Given the description of an element on the screen output the (x, y) to click on. 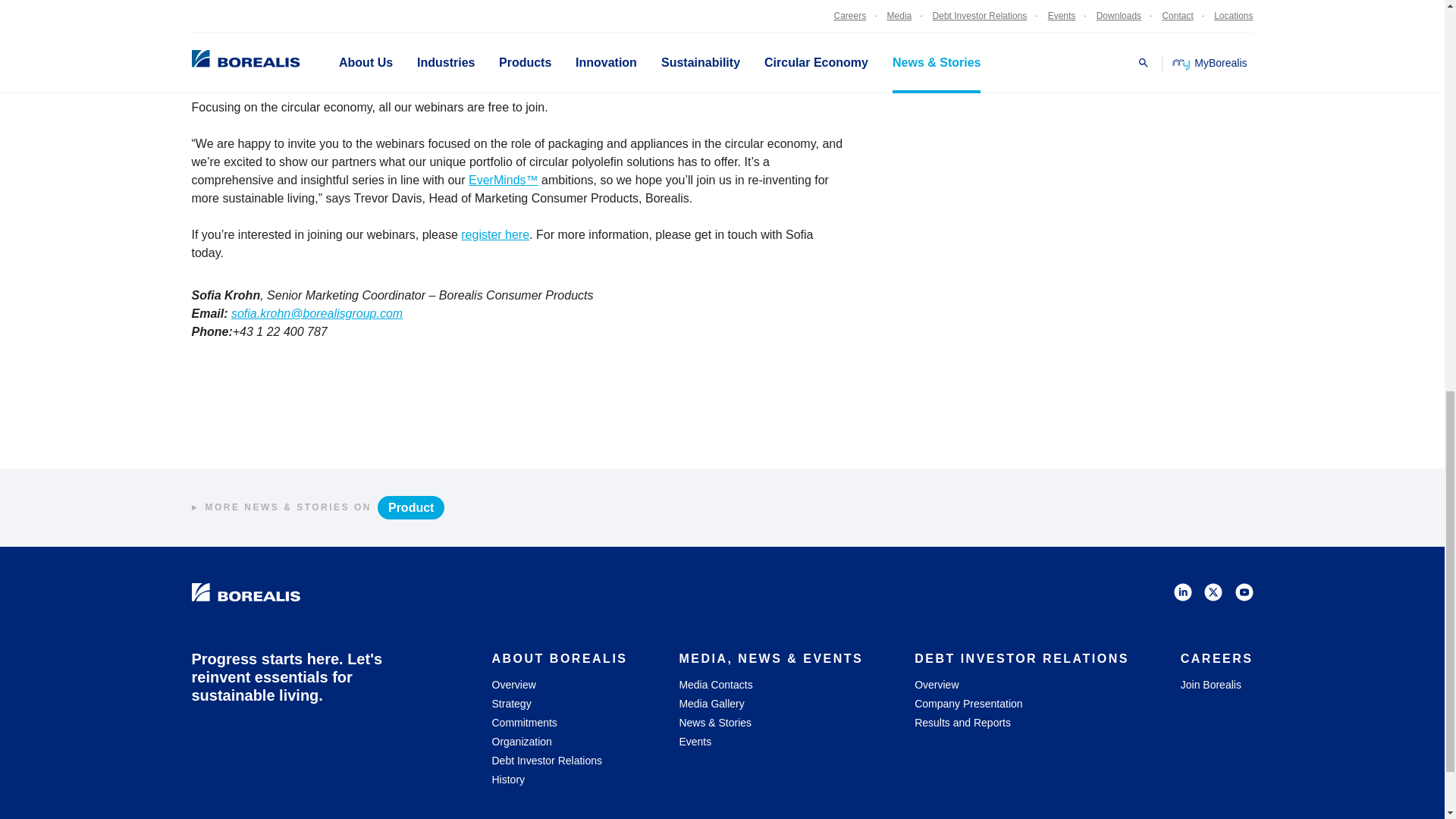
Product (410, 507)
webinars (239, 10)
register here (495, 234)
